Given the description of an element on the screen output the (x, y) to click on. 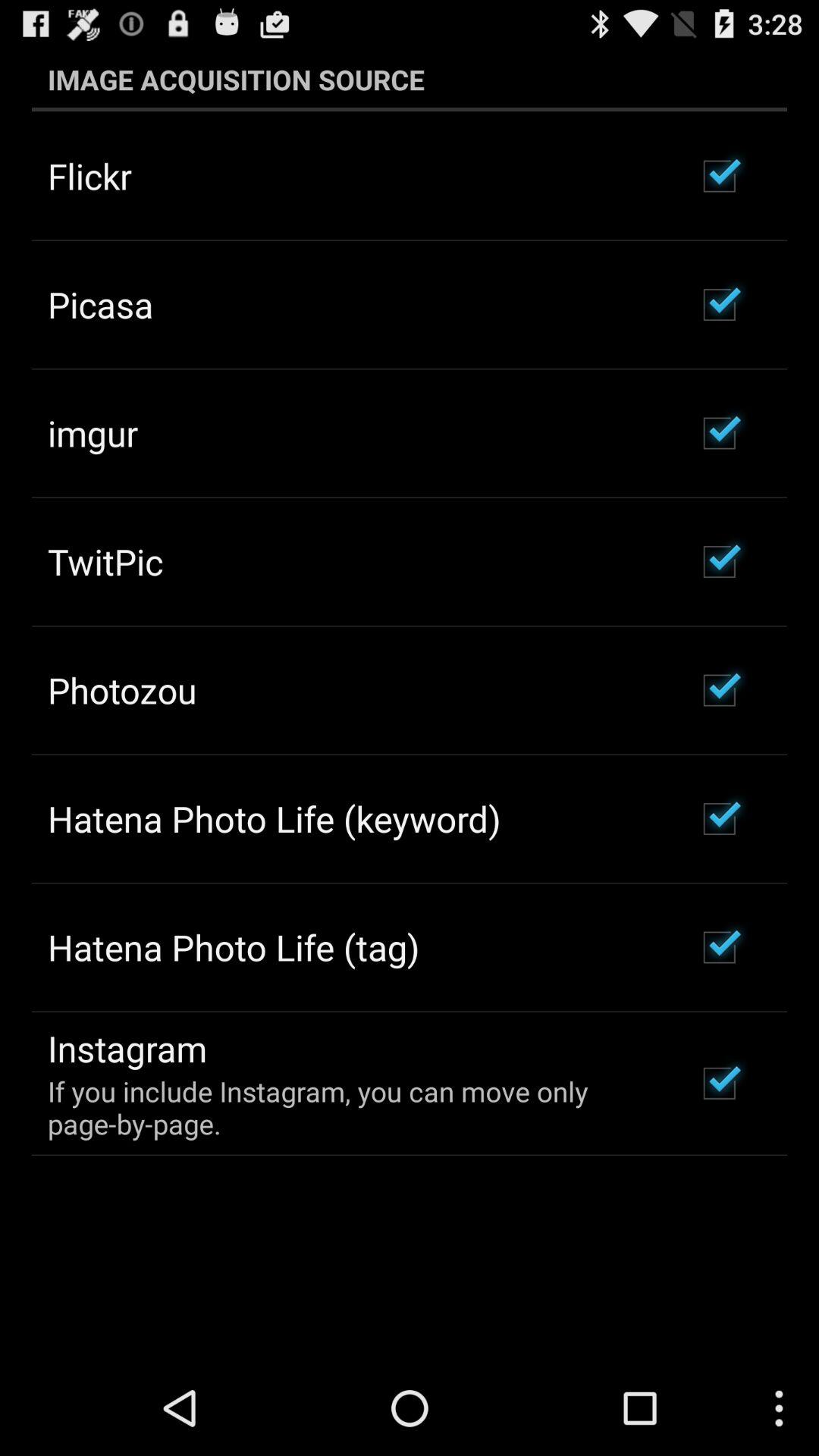
turn off the flickr icon (89, 175)
